Given the description of an element on the screen output the (x, y) to click on. 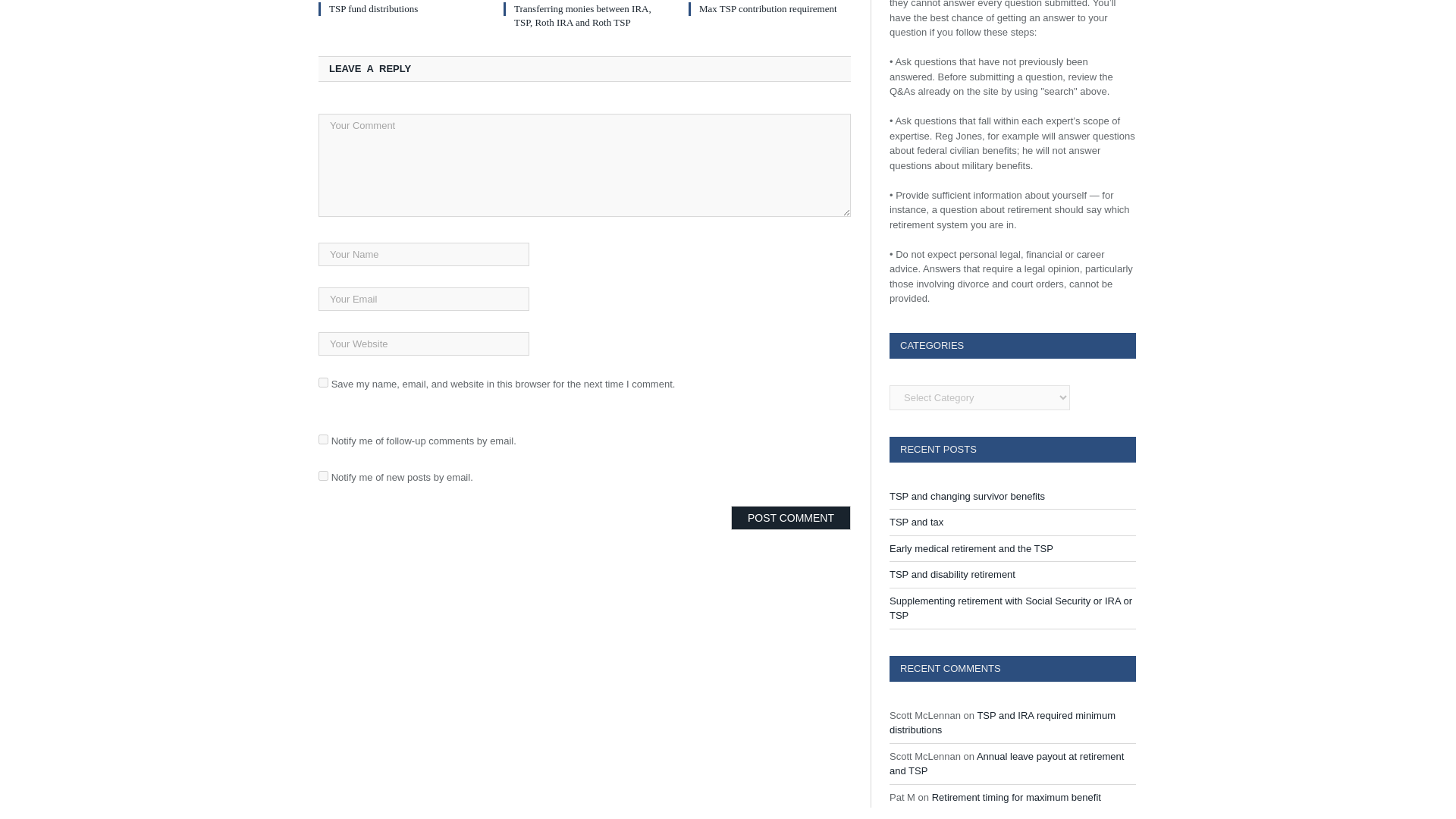
subscribe (323, 475)
subscribe (323, 439)
TSP fund distributions (373, 8)
Post Comment (790, 517)
yes (323, 382)
TSP fund distributions (373, 8)
